Given the description of an element on the screen output the (x, y) to click on. 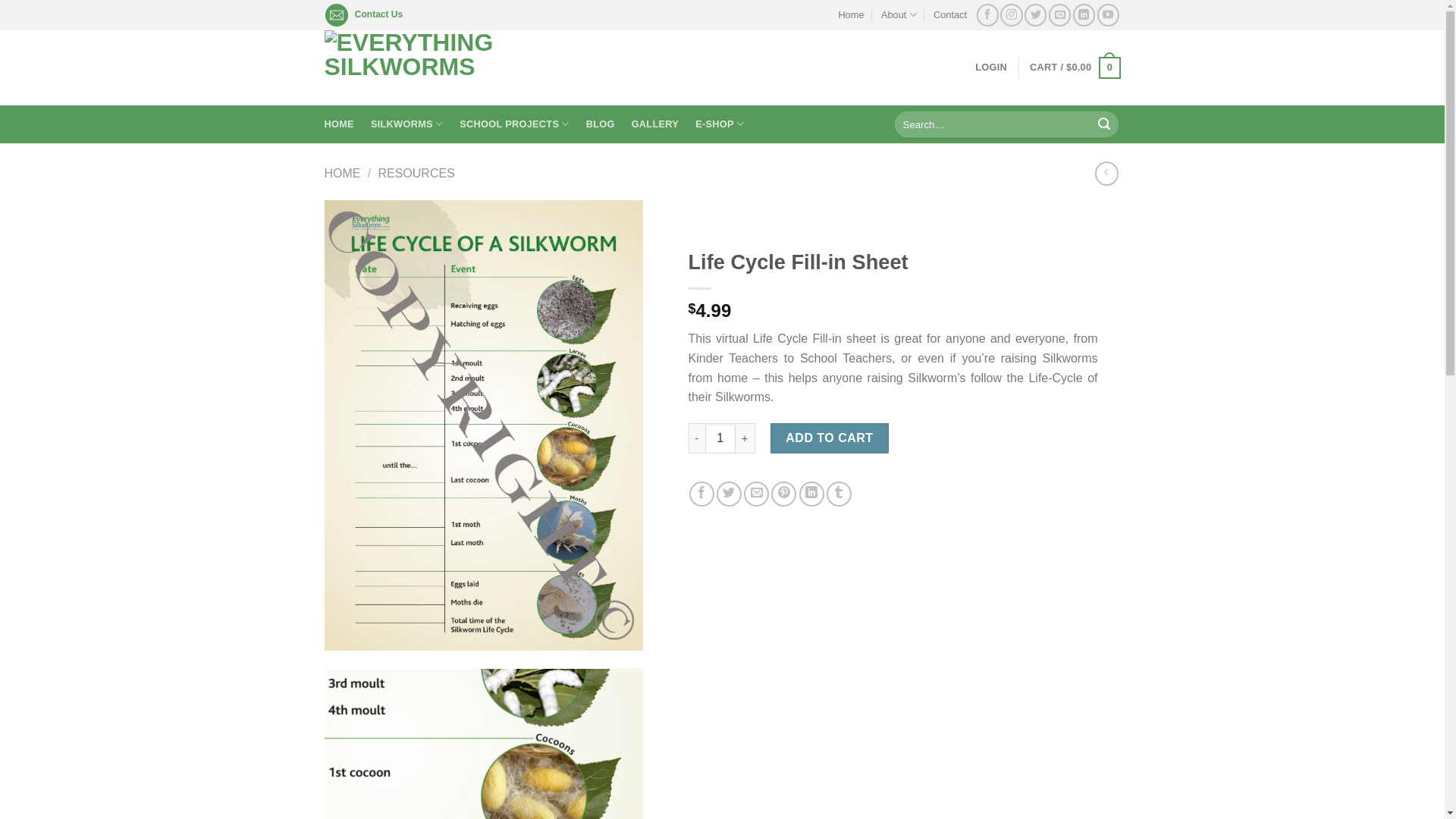
Share on LinkedIn Element type: hover (811, 493)
Search Element type: text (1104, 124)
Follow on YouTube Element type: hover (1108, 14)
HOME Element type: text (342, 172)
SILKWORMS Element type: text (406, 123)
BLOG Element type: text (600, 124)
Share on Facebook Element type: hover (701, 493)
SCHOOL PROJECTS Element type: text (513, 123)
RESOURCES Element type: text (415, 172)
GALLERY Element type: text (654, 124)
HOME Element type: text (339, 124)
Follow on Instagram Element type: hover (1011, 14)
Follow on LinkedIn Element type: hover (1084, 14)
Home Element type: text (850, 14)
Follow on Facebook Element type: hover (987, 14)
Send us an email Element type: hover (1059, 14)
E-SHOP Element type: text (719, 123)
LOGIN Element type: text (991, 67)
Share on Tumblr Element type: hover (838, 493)
Email to a Friend Element type: hover (755, 493)
Pin on Pinterest Element type: hover (783, 493)
Contact Element type: text (949, 14)
Share on Twitter Element type: hover (728, 493)
ADD TO CART Element type: text (829, 438)
Contact Us Element type: text (378, 14)
CART / $0.00
0 Element type: text (1074, 68)
About Element type: text (898, 14)
Follow on Twitter Element type: hover (1035, 14)
